Given the description of an element on the screen output the (x, y) to click on. 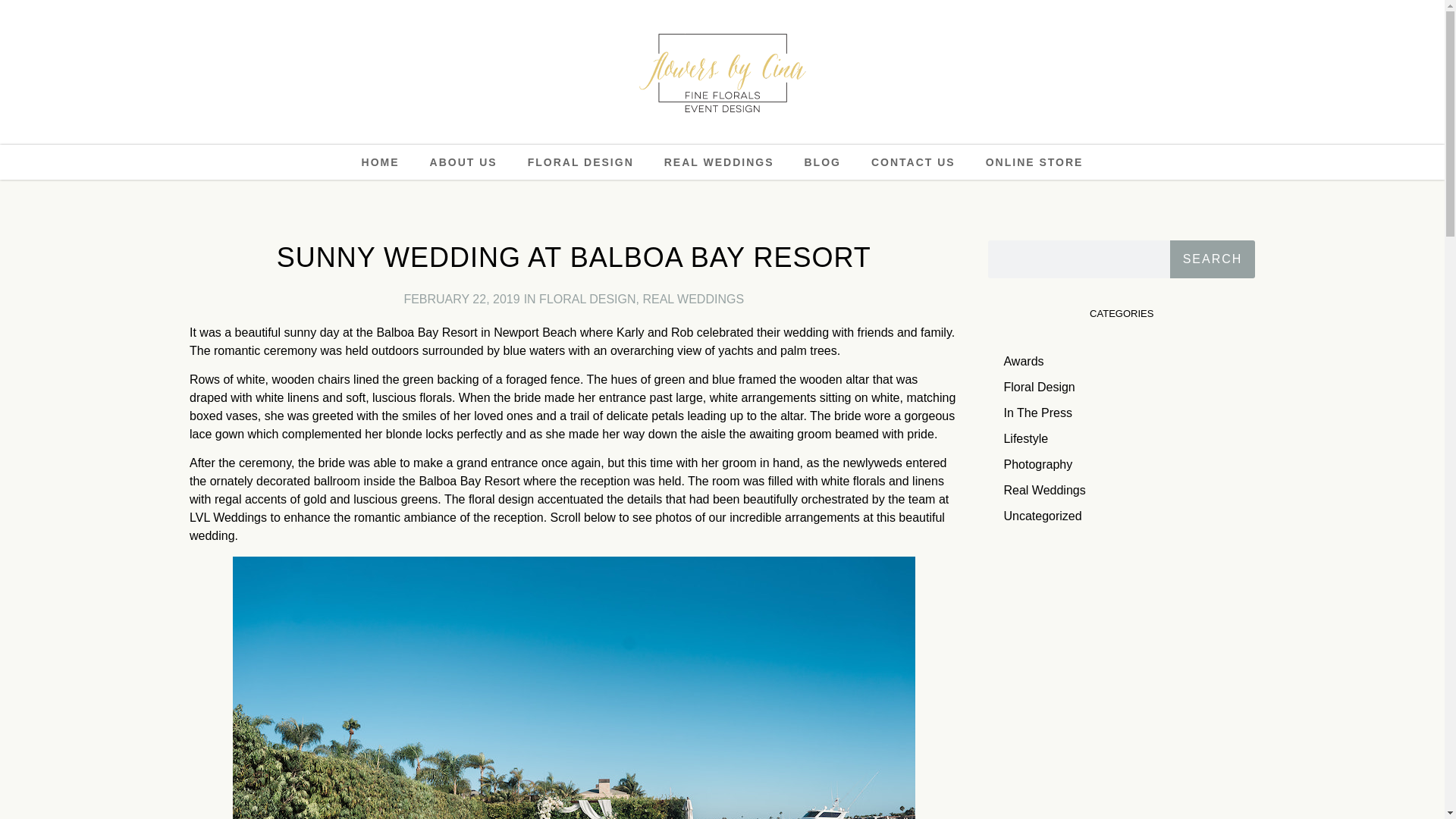
FLORAL DESIGN (580, 161)
FLORAL DESIGN (586, 298)
BLOG (822, 161)
ONLINE STORE (1035, 161)
REAL WEDDINGS (693, 298)
FEBRUARY 22, 2019 (461, 298)
LVL Weddings (227, 517)
ABOUT US (463, 161)
REAL WEDDINGS (719, 161)
HOME (380, 161)
